Given the description of an element on the screen output the (x, y) to click on. 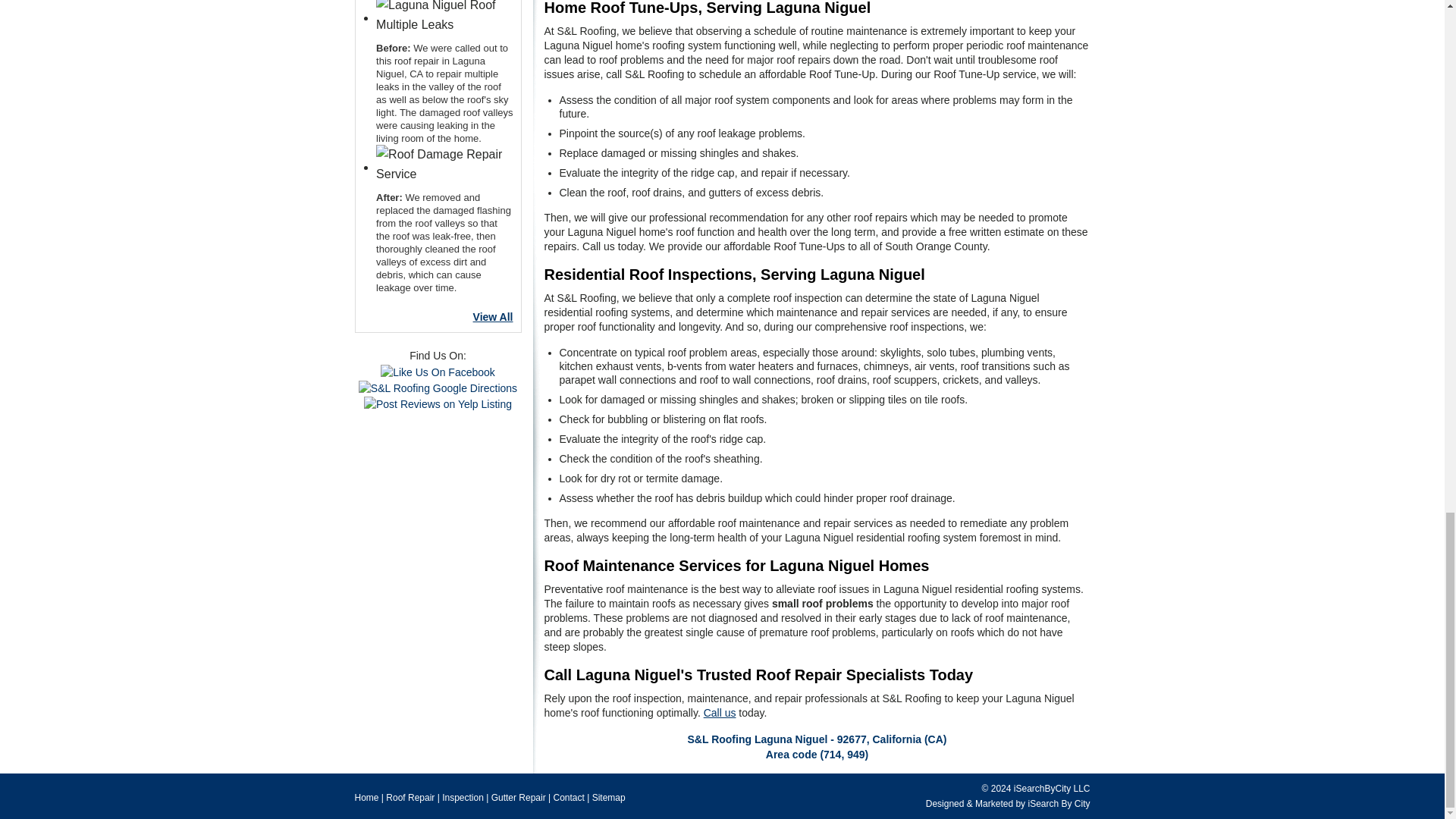
Before Roof Repair (443, 17)
Home (366, 797)
View All (437, 316)
After Roof Repair (443, 163)
Call us (719, 712)
